Given the description of an element on the screen output the (x, y) to click on. 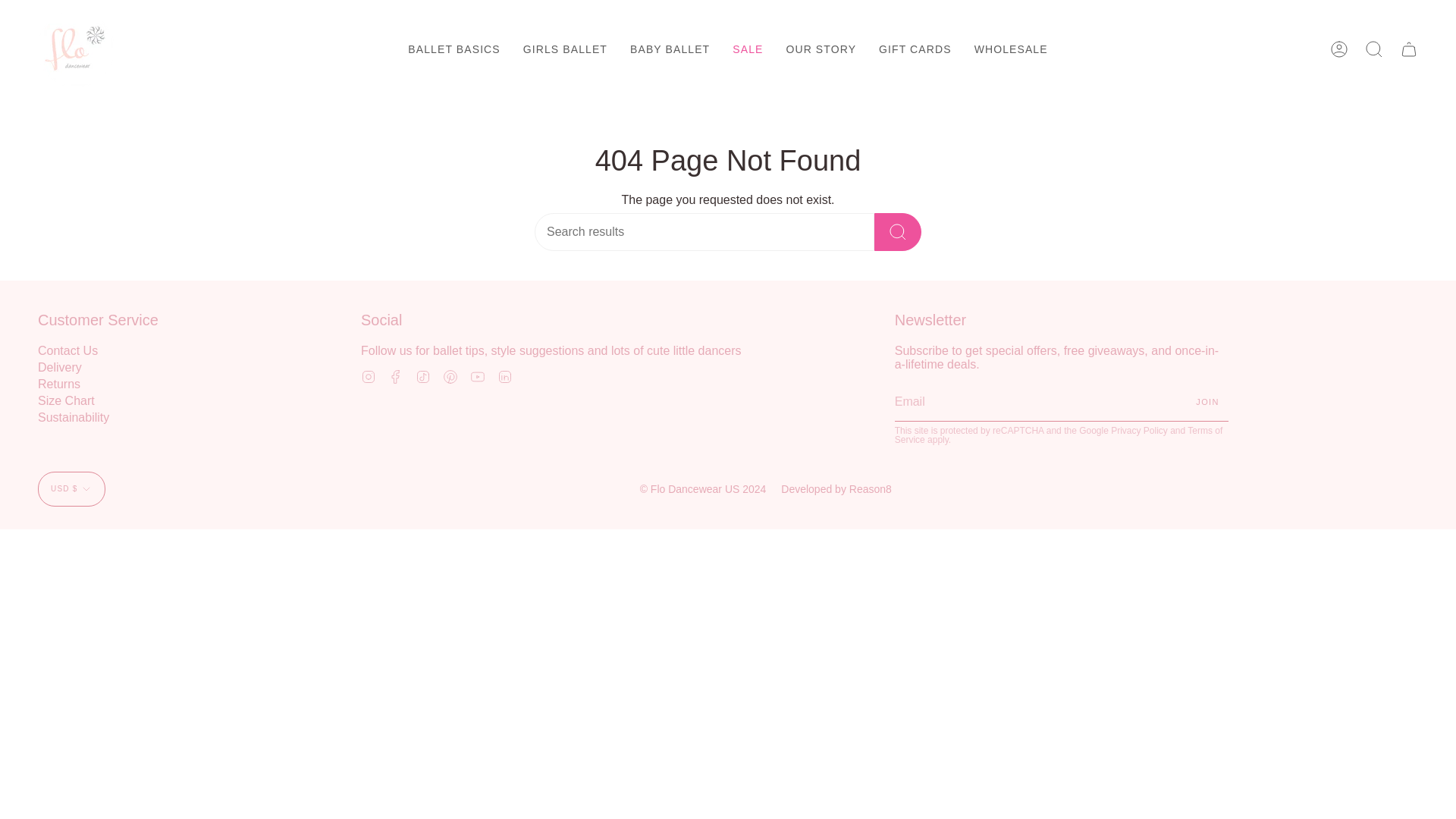
Flo Dancewear US on YouTube (477, 375)
Flo Dancewear US on Facebook (395, 375)
OUR STORY (820, 48)
BABY BALLET (669, 48)
Flo Dancewear US on TikTok (422, 375)
WHOLESALE (1010, 48)
BALLET BASICS (453, 48)
Flo Dancewear US on Pinterest (450, 375)
Flo Dancewear US on Linkedin (504, 375)
Flo Dancewear US on Instagram (368, 375)
GIRLS BALLET (565, 48)
GIFT CARDS (914, 48)
